Given the description of an element on the screen output the (x, y) to click on. 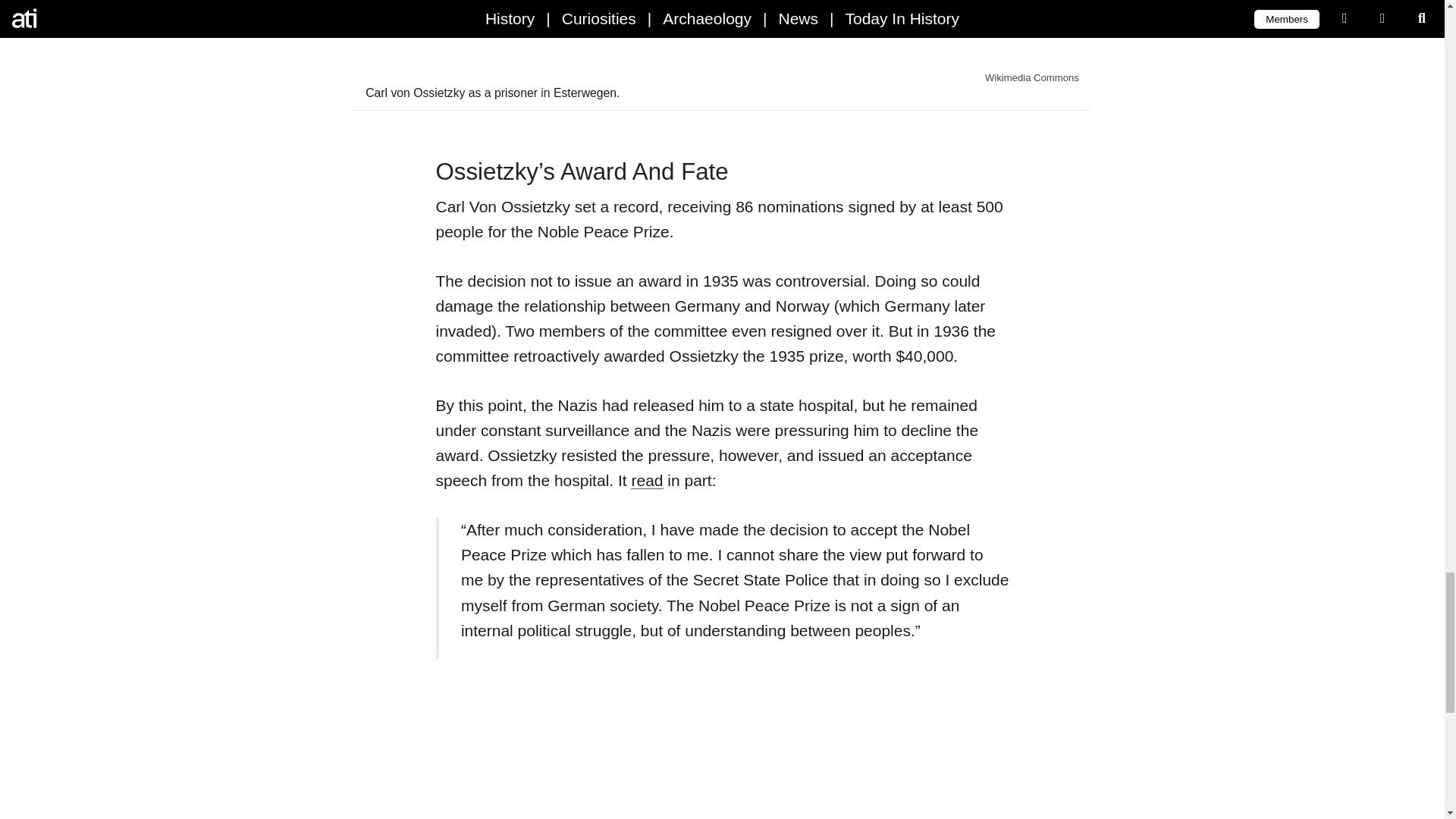
read (646, 479)
